Given the description of an element on the screen output the (x, y) to click on. 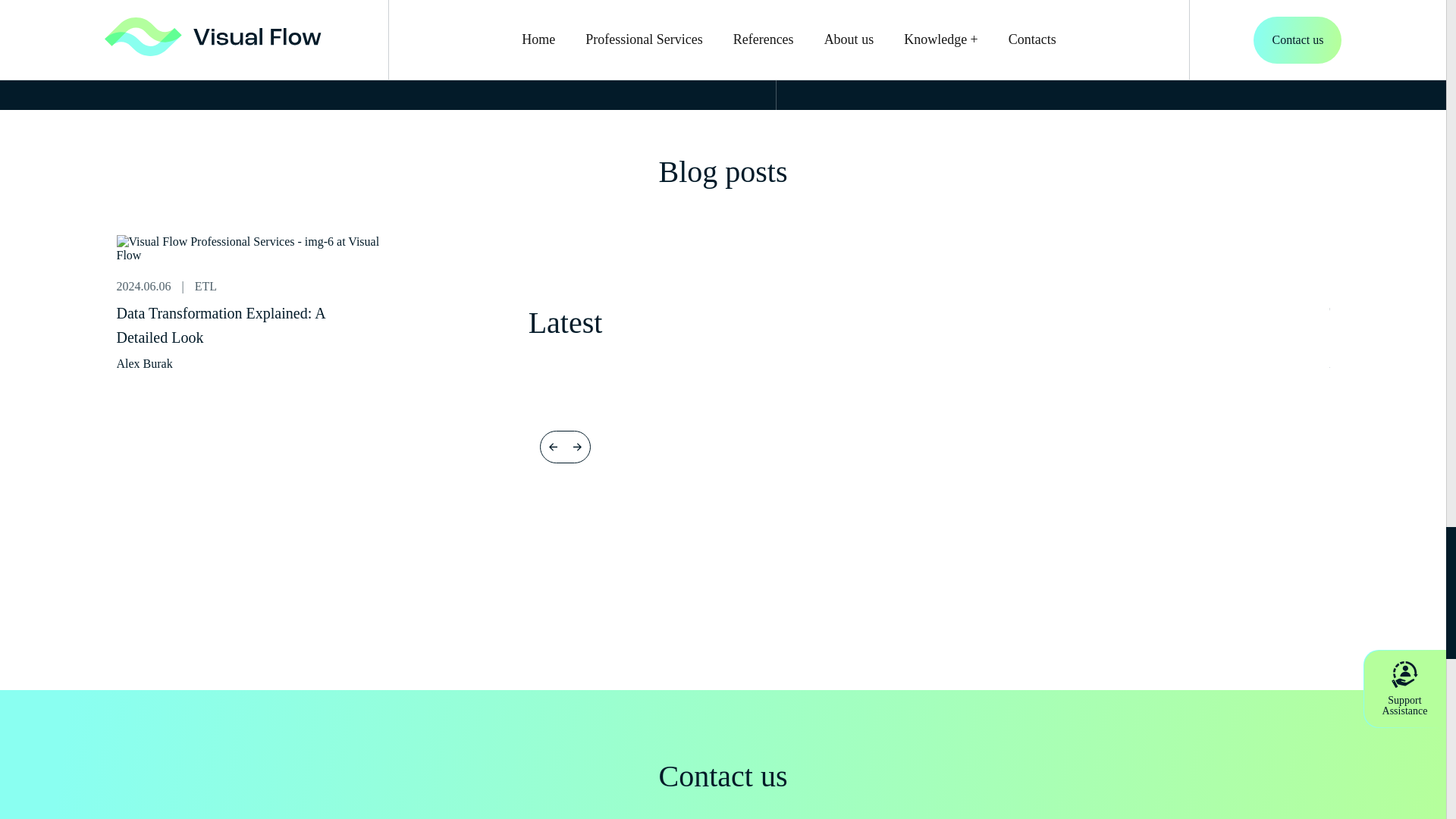
Visual Flow Professional Services - img-6 (258, 248)
